Given the description of an element on the screen output the (x, y) to click on. 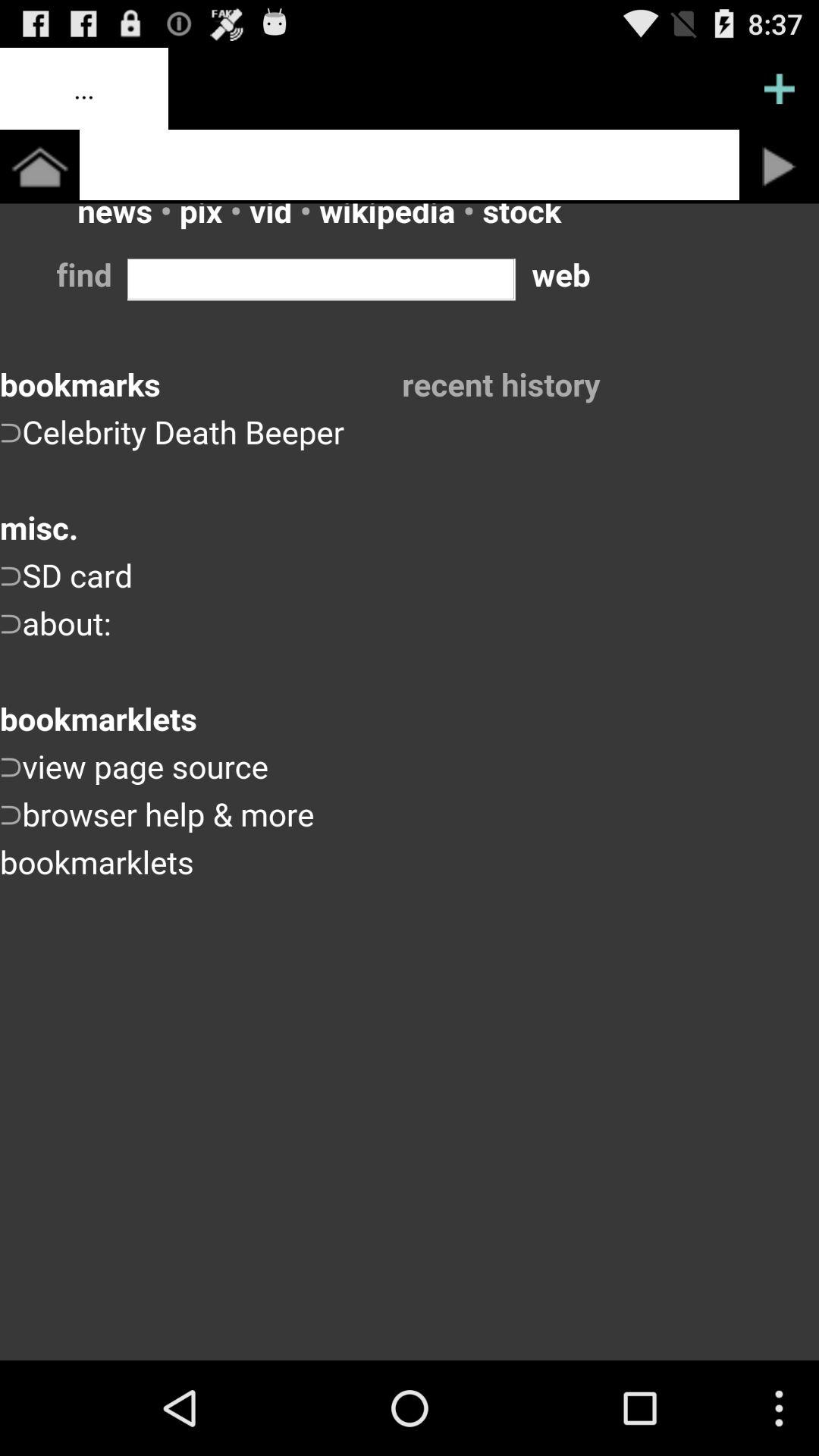
menu pega (779, 88)
